Given the description of an element on the screen output the (x, y) to click on. 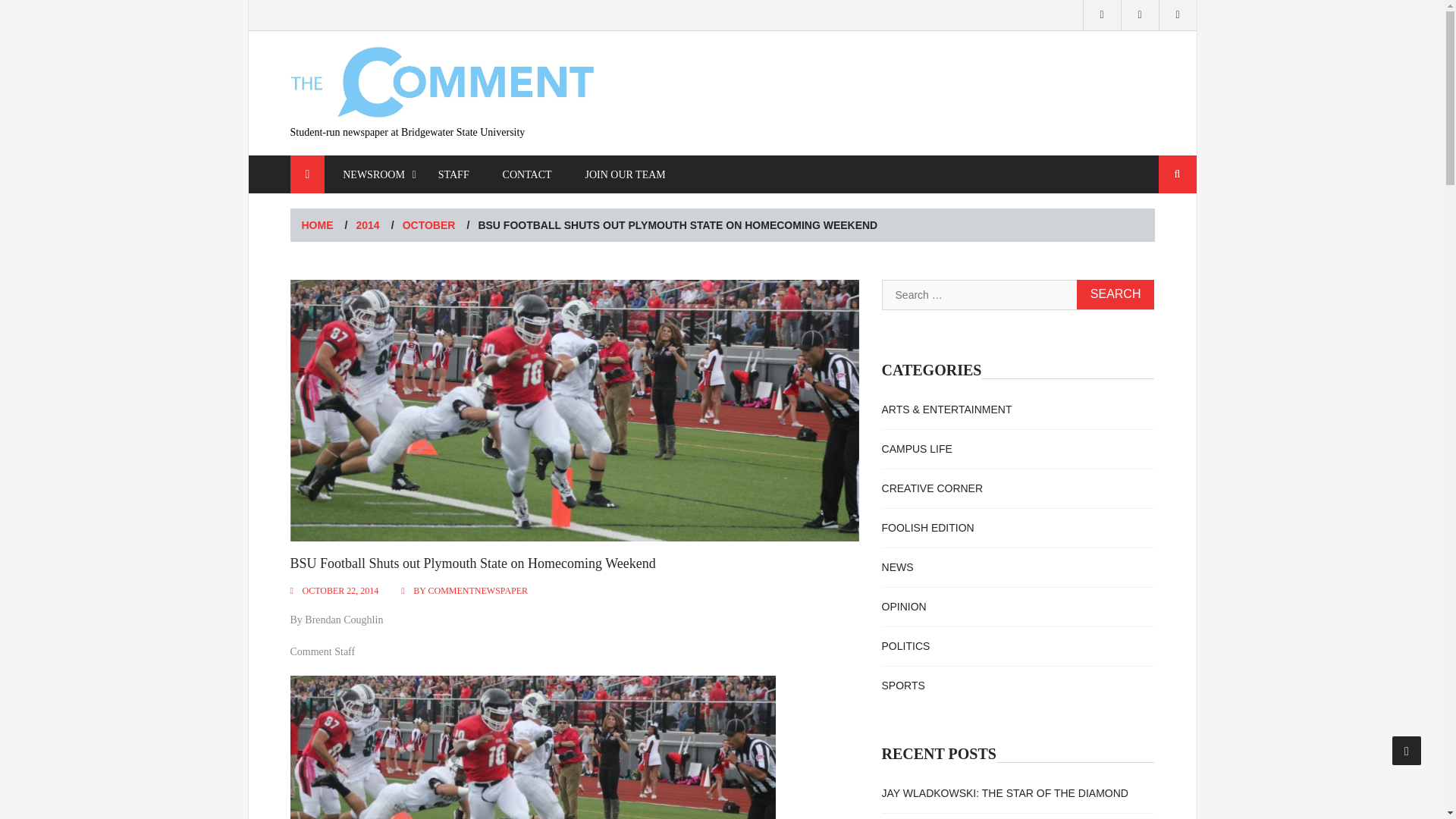
NEWSROOM (373, 174)
CONTACT (527, 174)
COMMENTNEWSPAPER (478, 590)
OCTOBER 22, 2014 (339, 590)
STAFF (453, 174)
JOIN OUR TEAM (624, 174)
HOME (317, 224)
Search (1177, 174)
2014 (368, 224)
Search (1115, 294)
INSTAGRAM (1102, 15)
OCTOBER (429, 224)
Search (1115, 294)
Search (1177, 174)
TWITTER (1139, 15)
